Given the description of an element on the screen output the (x, y) to click on. 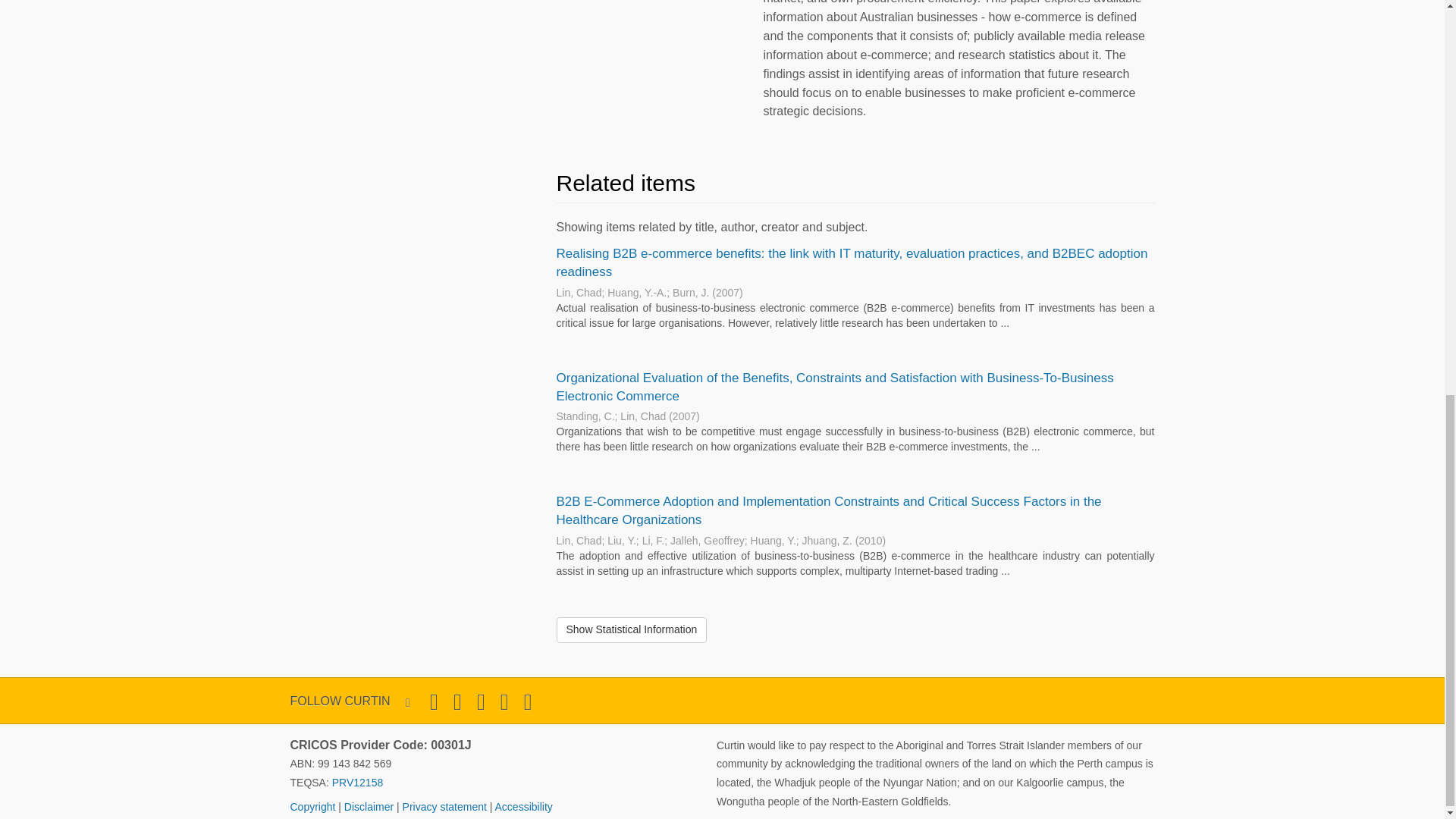
Show Statistical Information (631, 629)
